Given the description of an element on the screen output the (x, y) to click on. 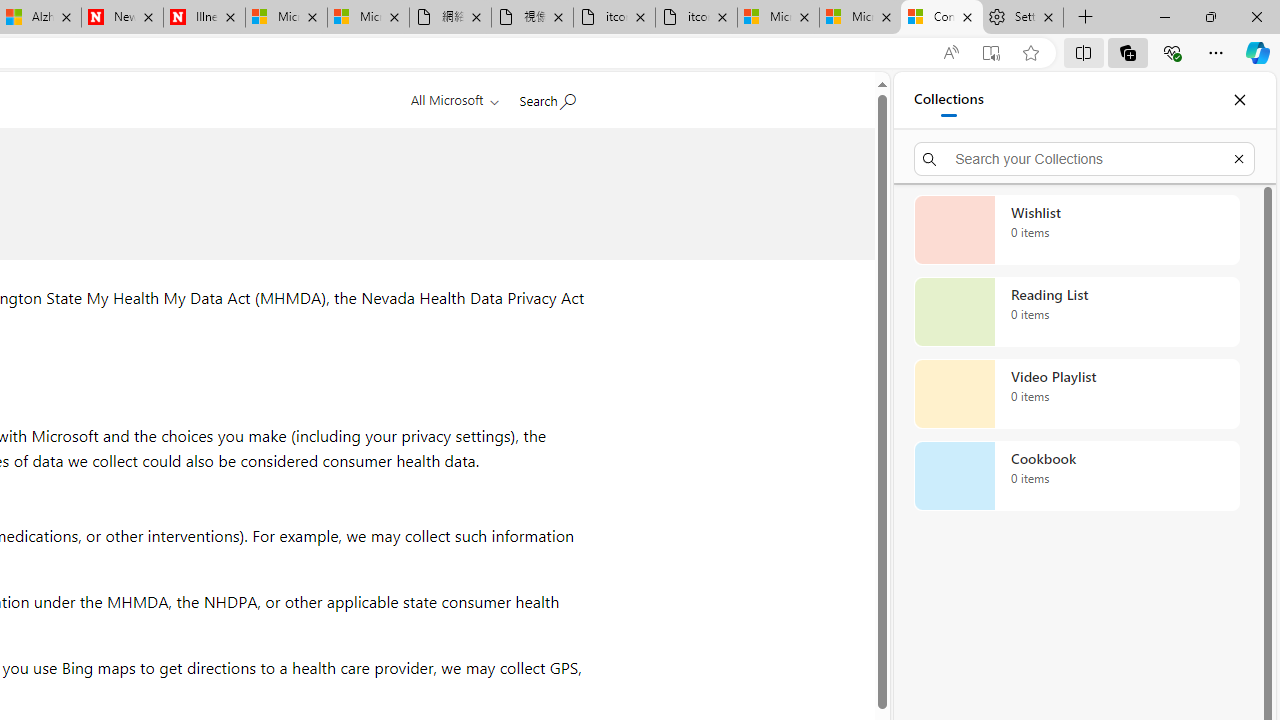
Video Playlist collection, 0 items (1076, 394)
Illness news & latest pictures from Newsweek.com (203, 17)
Search your Collections (1084, 158)
Enter Immersive Reader (F9) (991, 53)
Exit search (1238, 158)
